Given the description of an element on the screen output the (x, y) to click on. 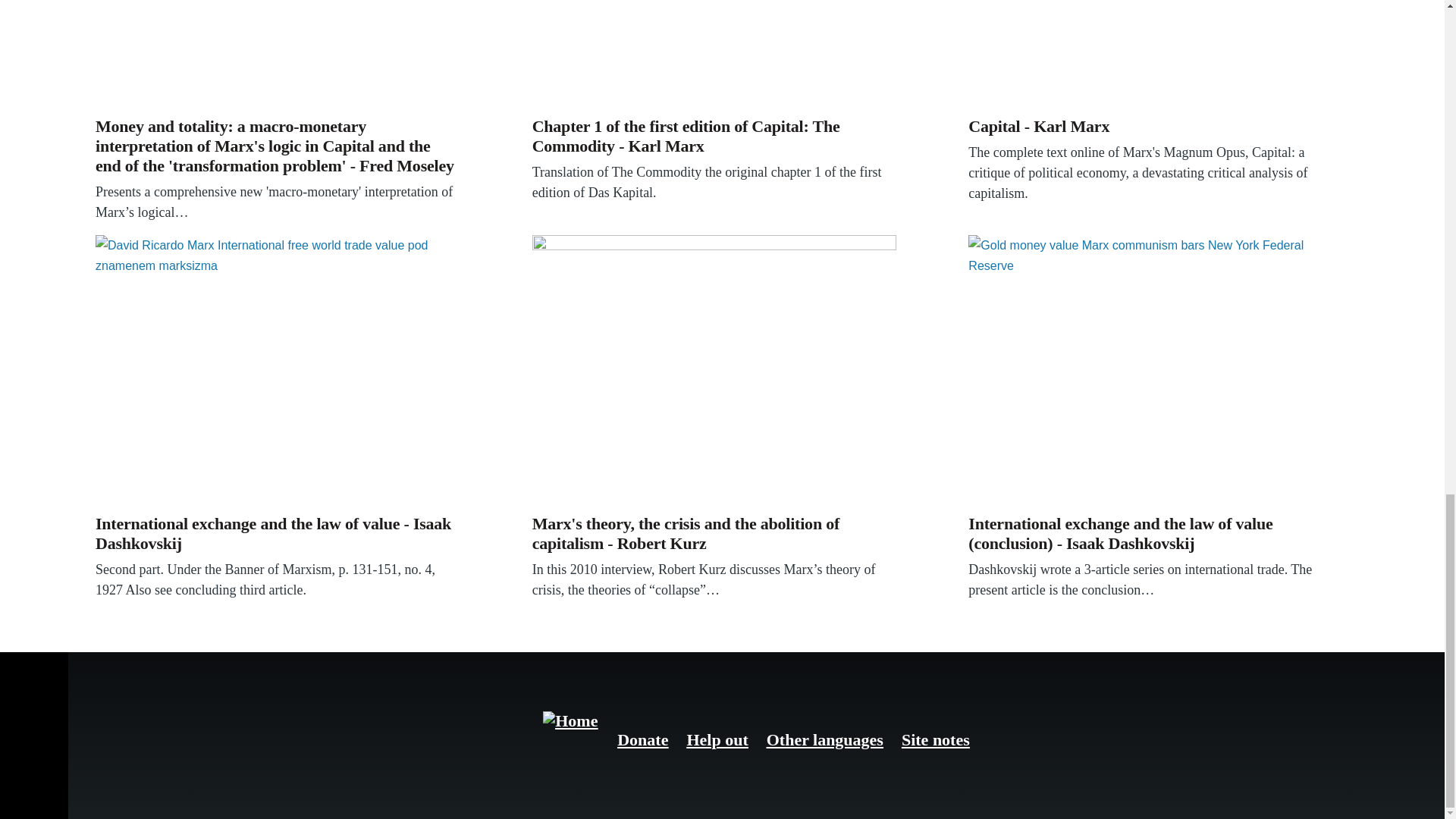
David Ricardo by Thomas Phillips (278, 371)
Donate (642, 739)
Site notes (935, 739)
Other languages (825, 739)
libcom content in languages other than English (825, 739)
Help out (716, 739)
